Given the description of an element on the screen output the (x, y) to click on. 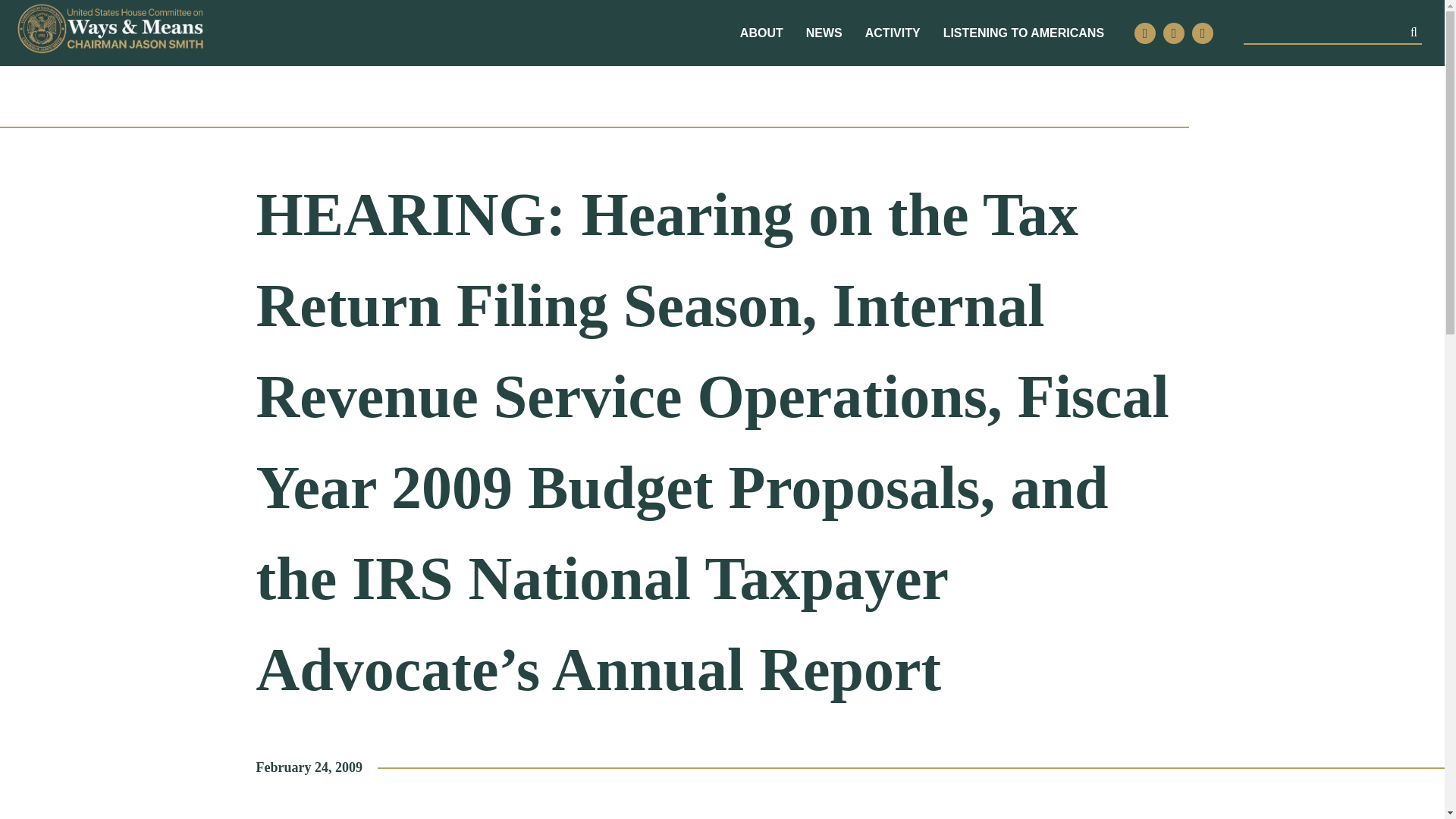
ABOUT (761, 33)
Instagram (1174, 33)
Twitter (1145, 33)
ACTIVITY (892, 33)
LISTENING TO AMERICANS (1023, 33)
Youtube (1202, 33)
NEWS (824, 33)
